Given the description of an element on the screen output the (x, y) to click on. 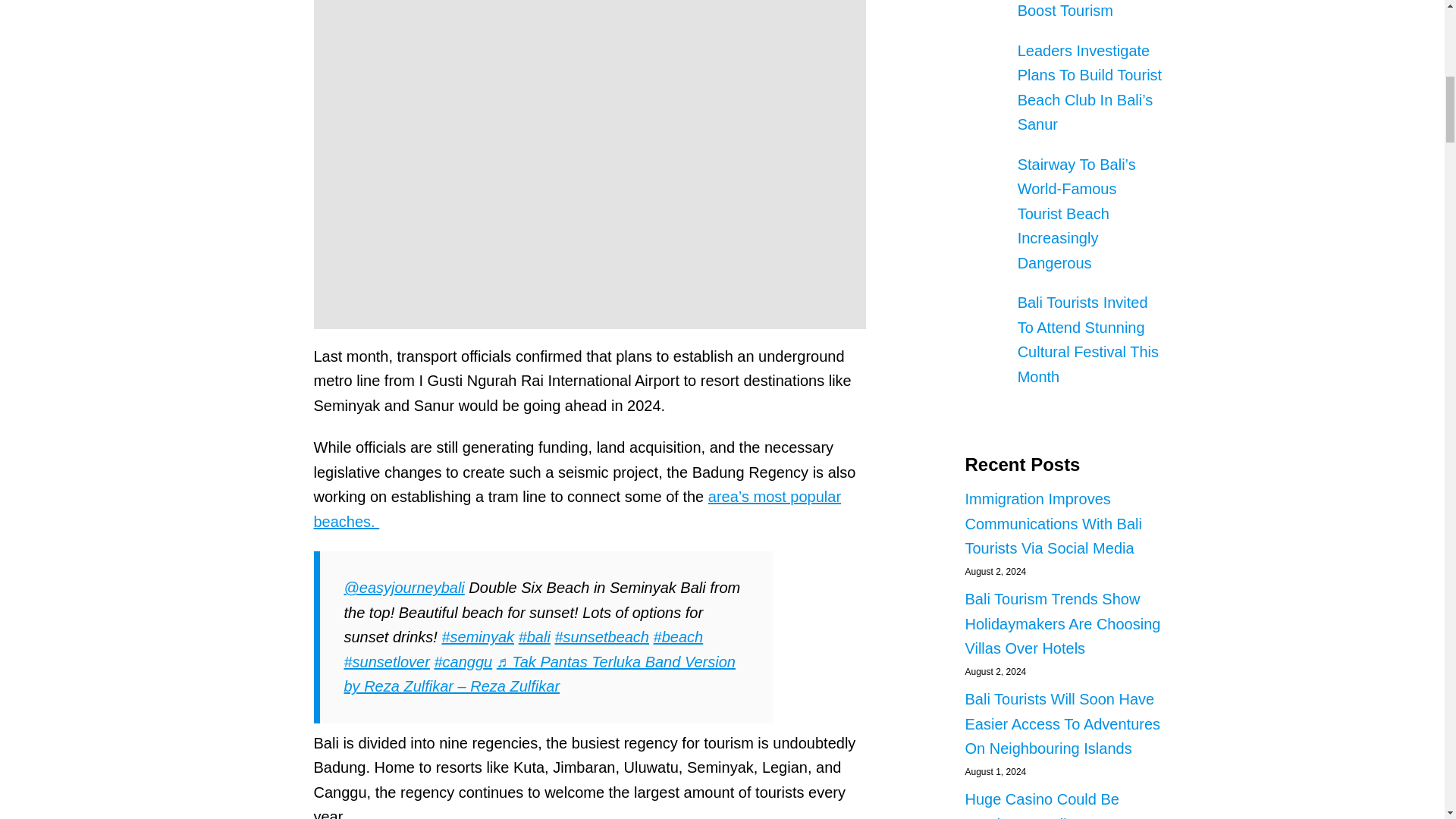
beach (678, 636)
sunsetlover (386, 661)
sunsetbeach (601, 636)
canggu (462, 661)
seminyak (477, 636)
bali (534, 636)
